Given the description of an element on the screen output the (x, y) to click on. 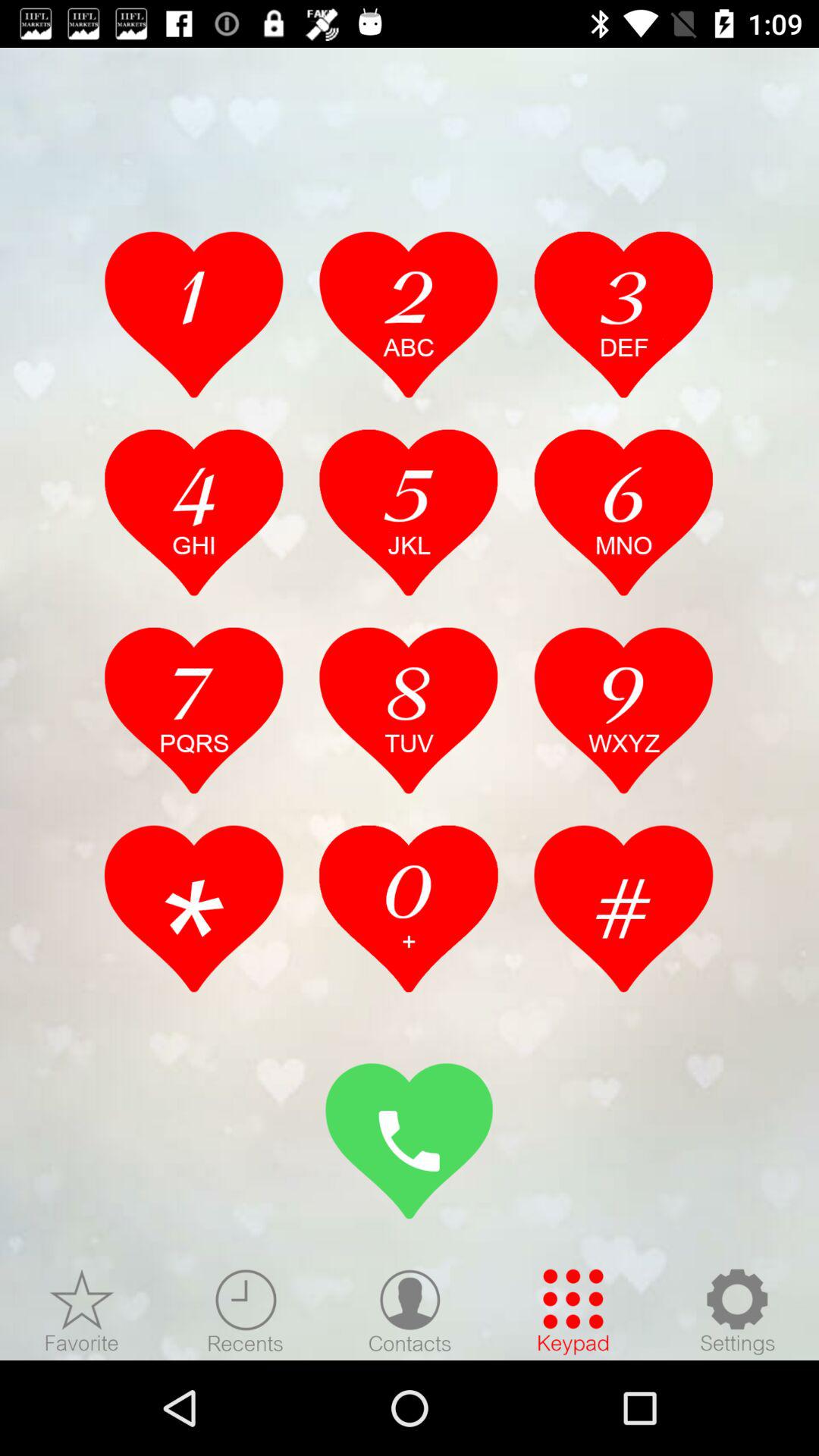
touch to type printed text and number (408, 512)
